Given the description of an element on the screen output the (x, y) to click on. 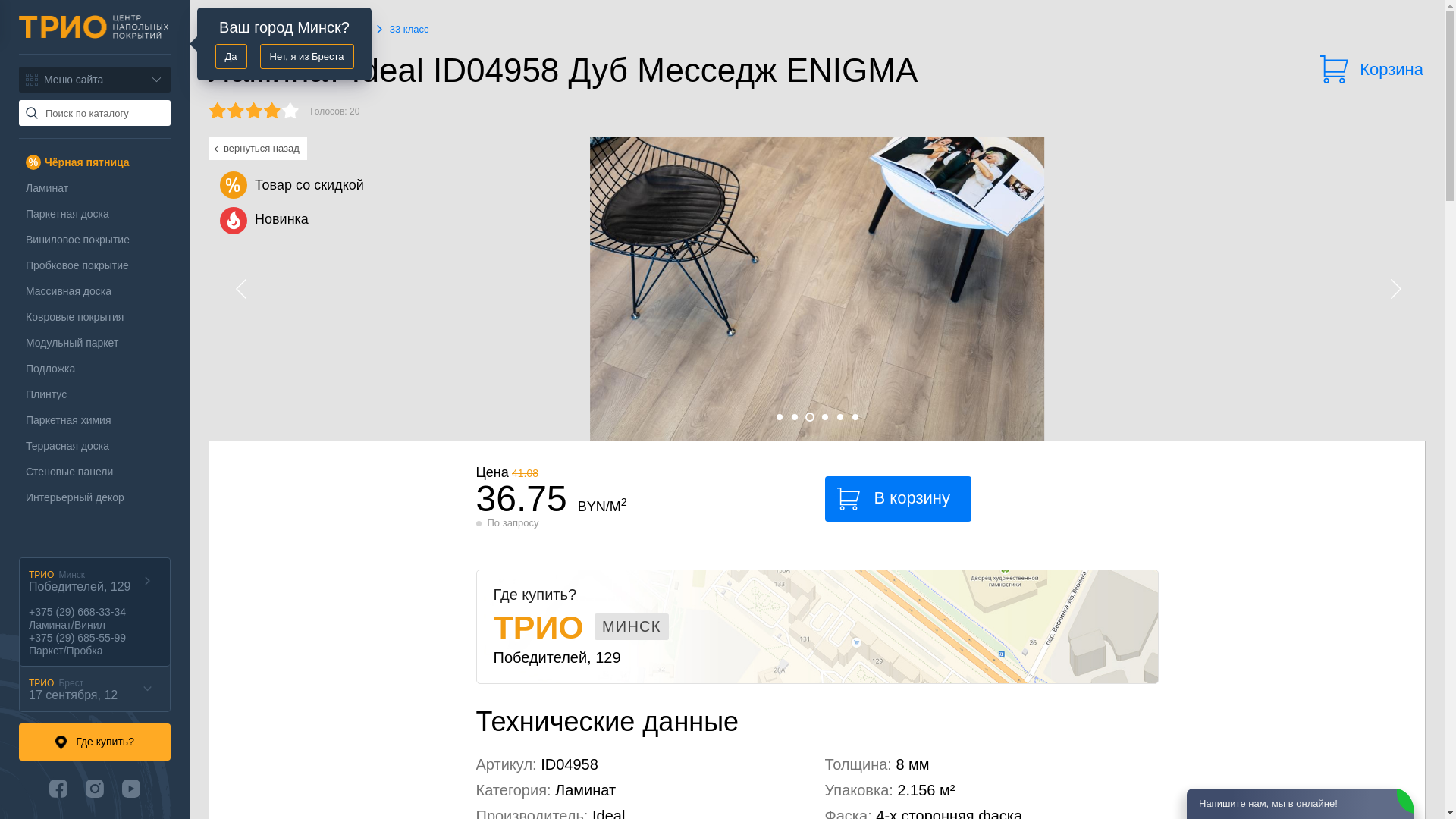
6 Element type: text (855, 417)
4 Element type: text (825, 417)
3 Element type: text (809, 417)
5 Element type: text (840, 417)
TrioPol Element type: hover (93, 26)
2 Element type: text (794, 417)
1 Element type: text (779, 417)
